Given the description of an element on the screen output the (x, y) to click on. 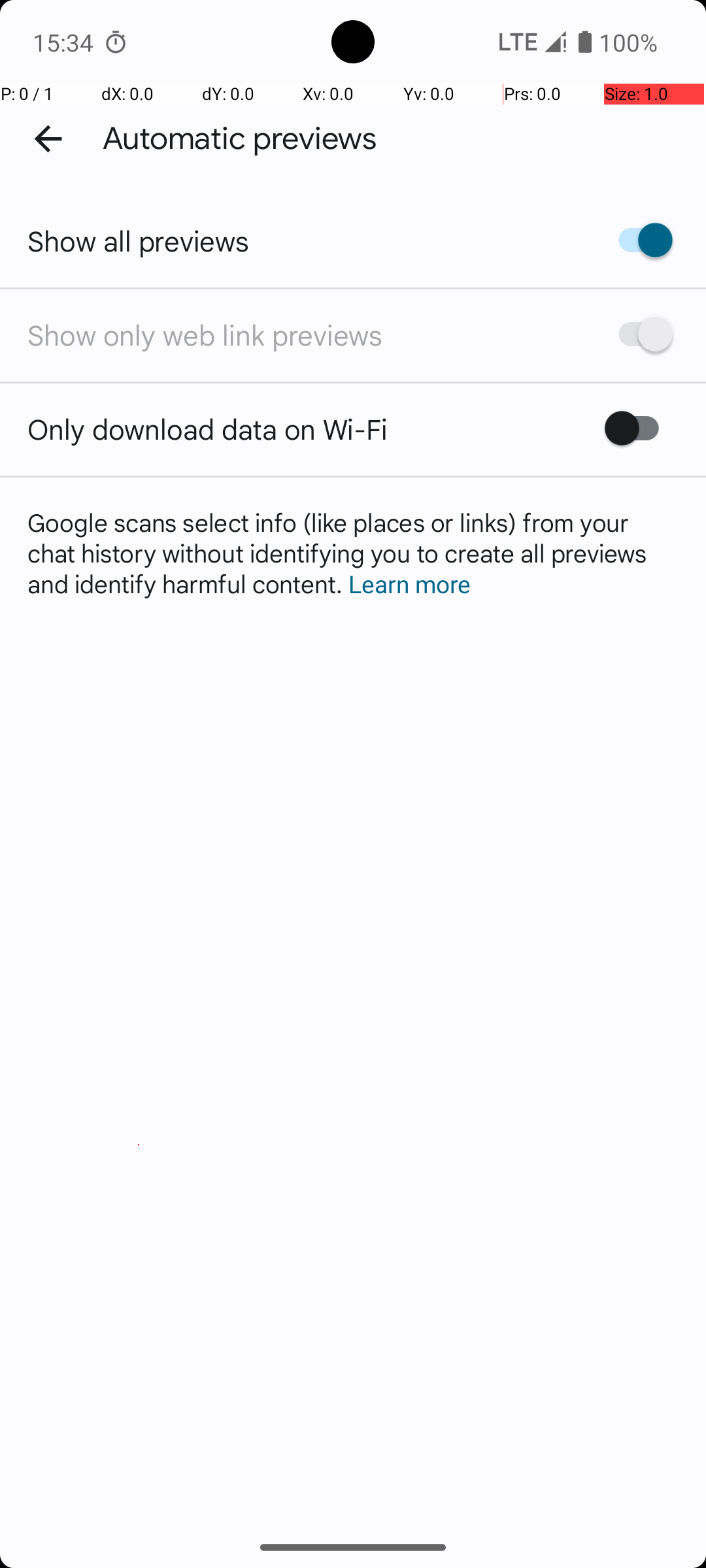
Automatic previews Element type: android.widget.TextView (239, 138)
Google scans select info (like places or links) from your chat history without identifying you to create all previews and identify harmful content. Learn more Element type: android.widget.TextView (353, 552)
Show all previews Element type: android.widget.TextView (138, 240)
Show only web link previews Element type: android.widget.TextView (205, 334)
Only download data on Wi-Fi Element type: android.widget.TextView (207, 428)
